Given the description of an element on the screen output the (x, y) to click on. 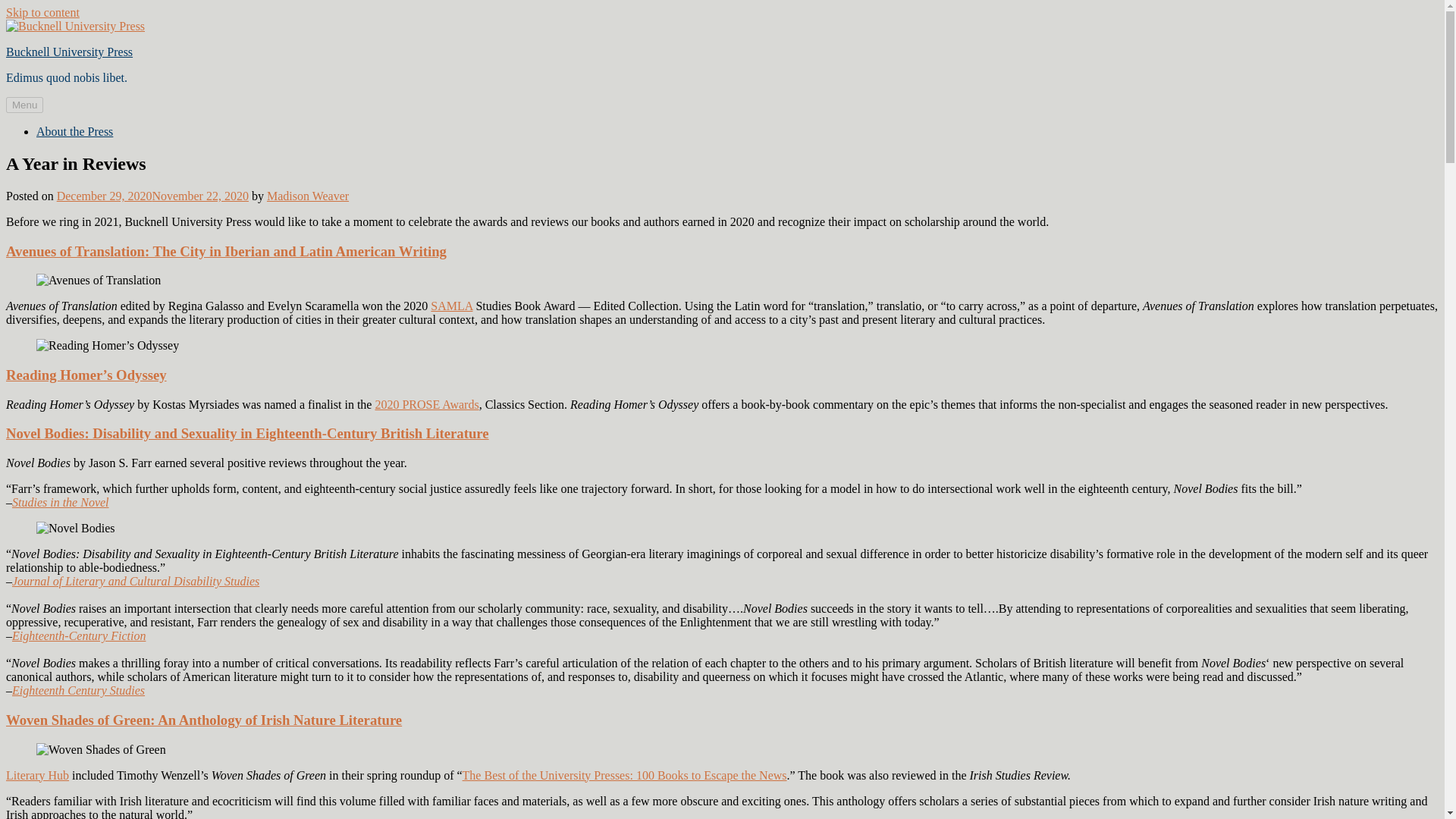
Journal of Literary and Cultural Disability Studies (135, 581)
About the Press (74, 131)
SAMLA (450, 305)
2020 PROSE Awards (426, 404)
December 29, 2020November 22, 2020 (152, 195)
Studies in the Novel (60, 502)
Madison Weaver (307, 195)
Bucknell University Press (68, 51)
Skip to content (42, 11)
Eighteenth-Century Fiction (78, 635)
Eighteenth Century Studies (77, 689)
Literary Hub (36, 775)
